Given the description of an element on the screen output the (x, y) to click on. 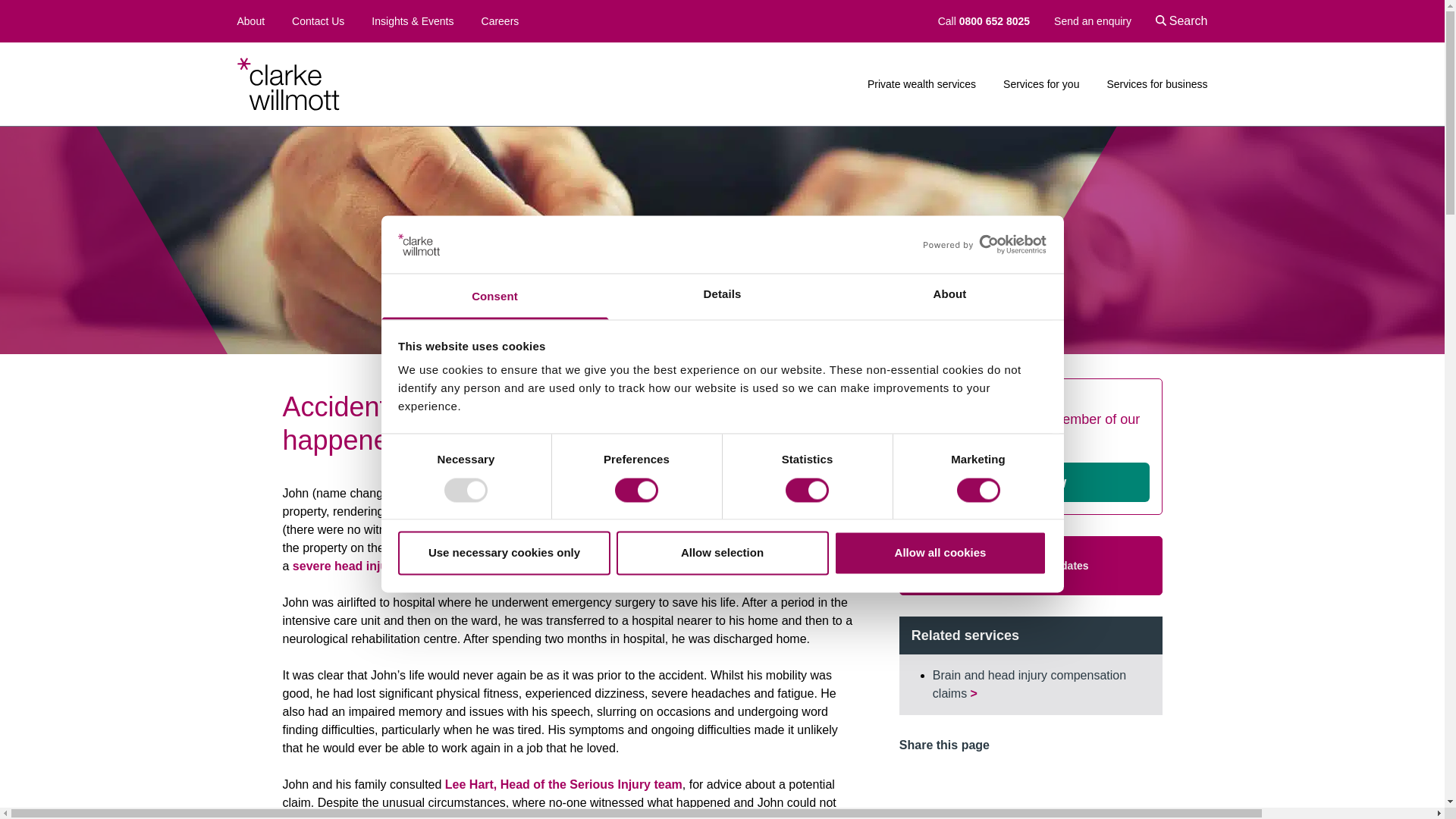
Allow all cookies (940, 553)
Consent (494, 297)
Details (721, 297)
About (948, 297)
Allow selection (721, 553)
Use necessary cookies only (503, 553)
